Given the description of an element on the screen output the (x, y) to click on. 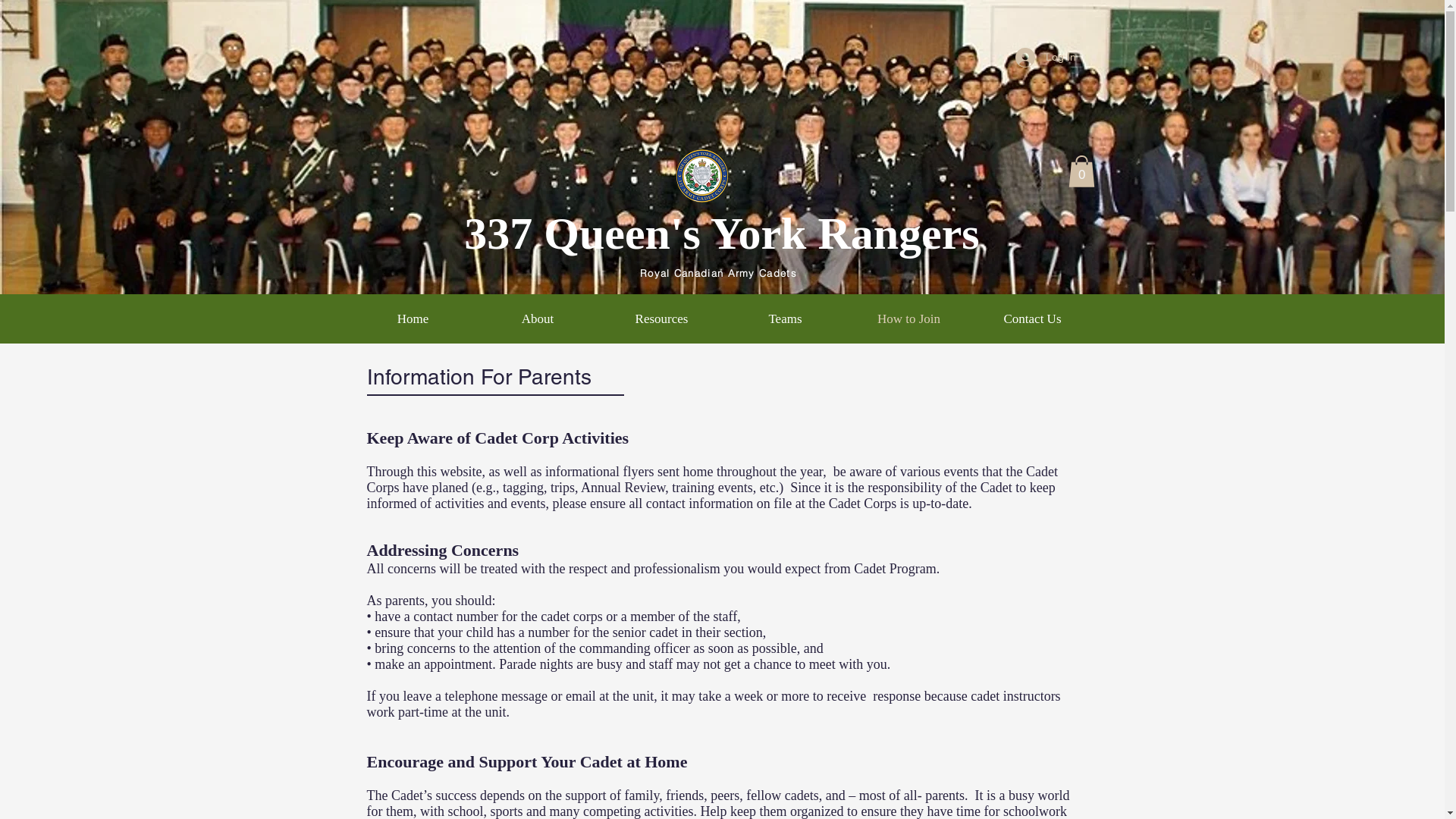
337 Queen's York Rangers Element type: text (721, 233)
Home Element type: text (412, 319)
Log In Element type: text (1044, 57)
Royal Canadian Army Cadets Element type: text (718, 273)
About Element type: text (536, 319)
0 Element type: text (1080, 171)
Contact Us Element type: text (1032, 319)
How to Join Element type: text (907, 319)
Teams Element type: text (785, 319)
